Given the description of an element on the screen output the (x, y) to click on. 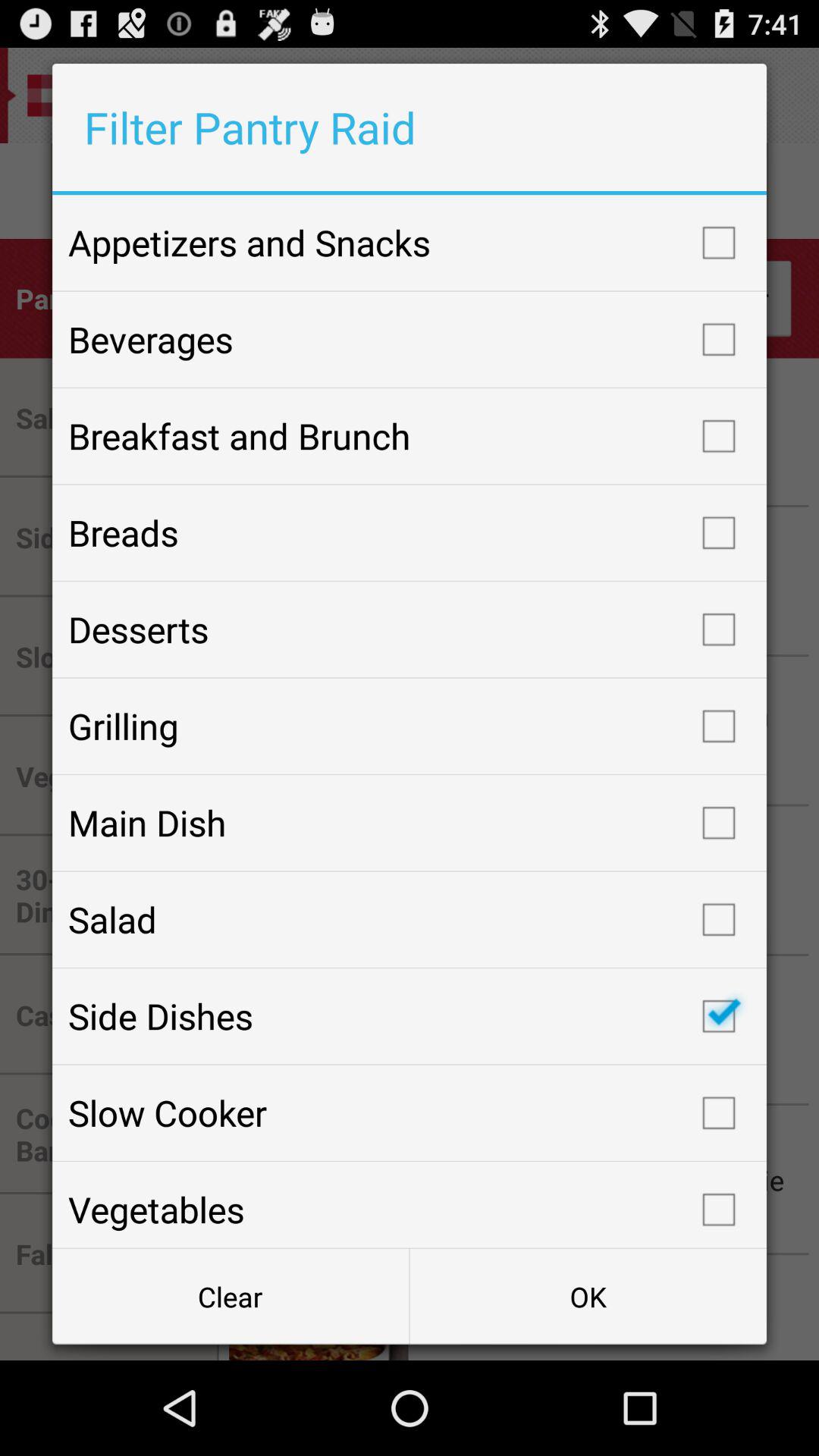
scroll to breads item (409, 532)
